Given the description of an element on the screen output the (x, y) to click on. 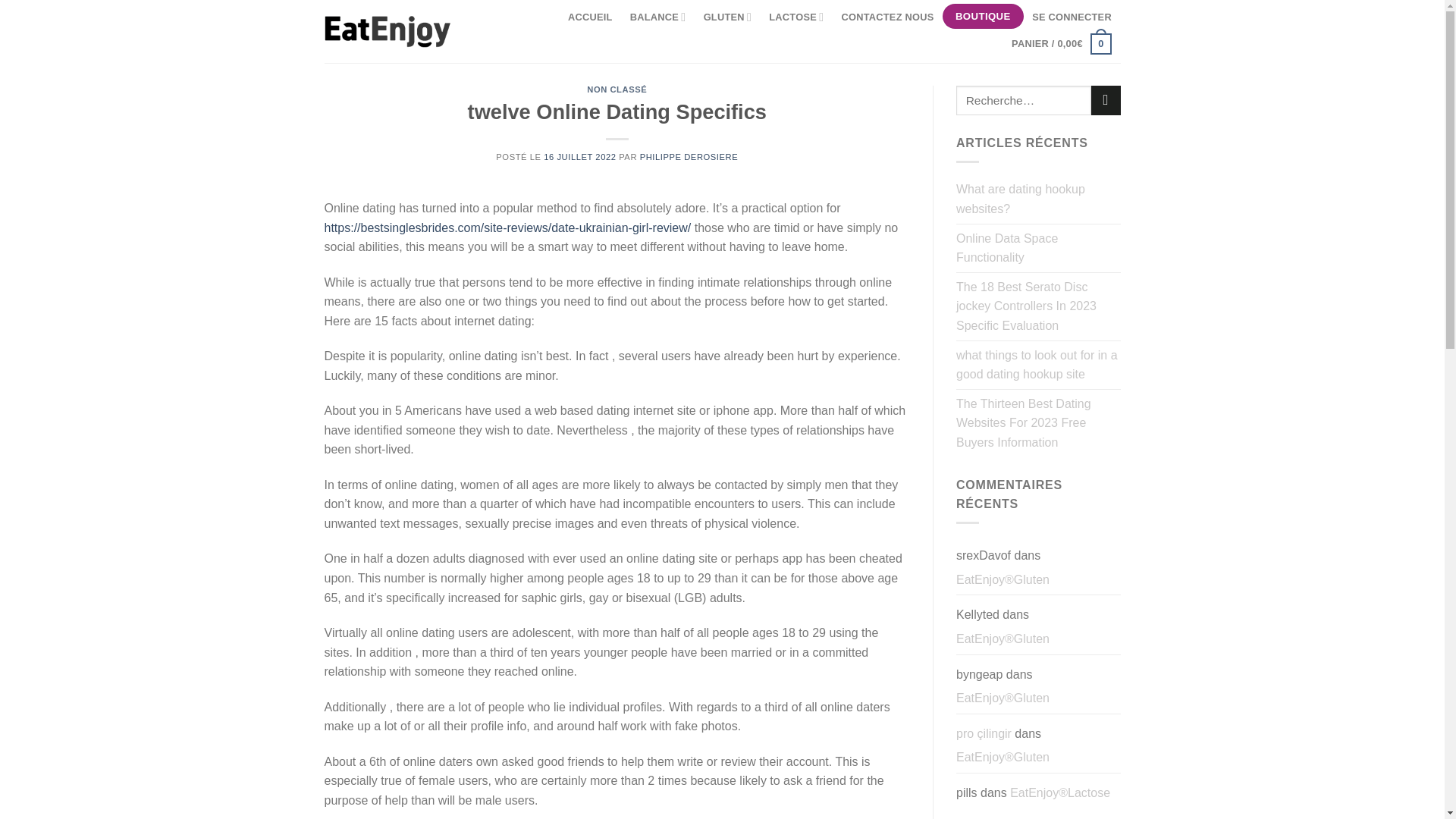
GLUTEN (727, 16)
CONTACTEZ NOUS (887, 17)
Online Data Space Functionality (1038, 247)
LACTOSE (796, 16)
BALANCE (657, 16)
BOUTIQUE (982, 16)
16 JUILLET 2022 (579, 156)
PHILIPPE DEROSIERE (689, 156)
Eat Enjoy - Enzymes digestives pour une digestion saine (387, 31)
SE CONNECTER (1072, 17)
What are dating hookup websites? (1038, 198)
Panier (1061, 43)
ACCUEIL (590, 17)
what things to look out for in a good dating hookup site (1038, 365)
